Given the description of an element on the screen output the (x, y) to click on. 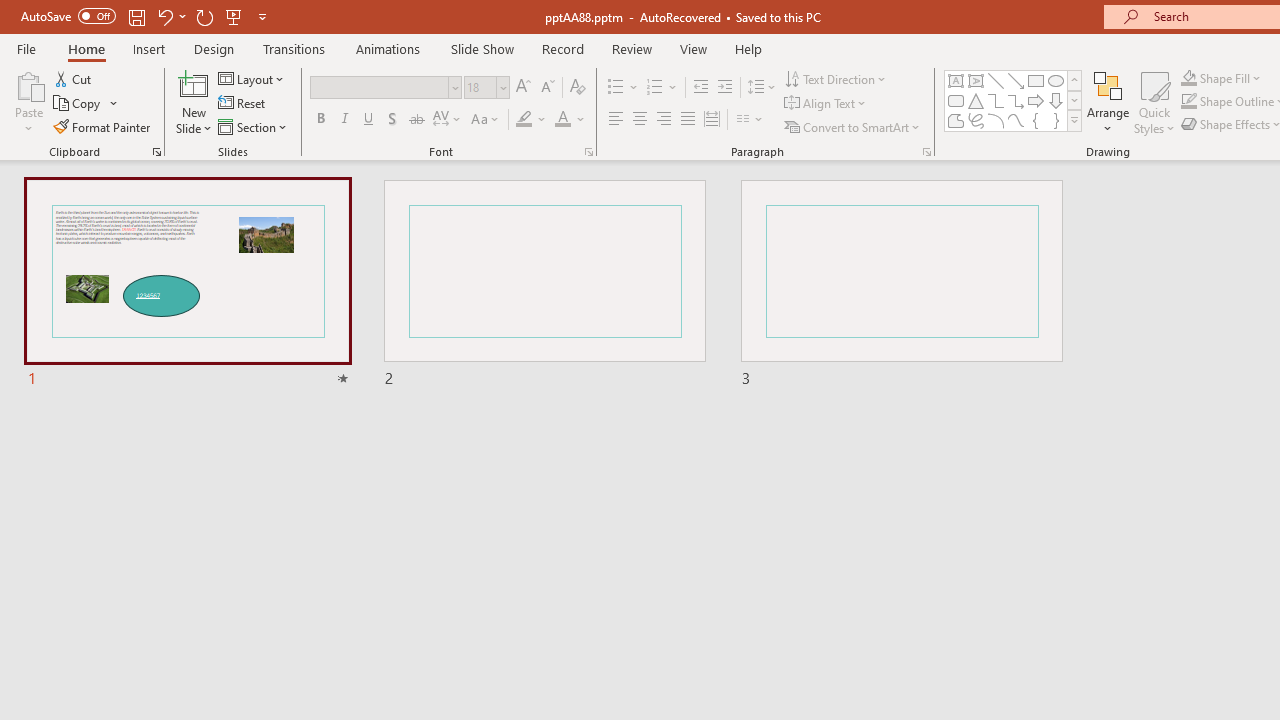
Shape Fill Aqua, Accent 2 (1188, 78)
